Given the description of an element on the screen output the (x, y) to click on. 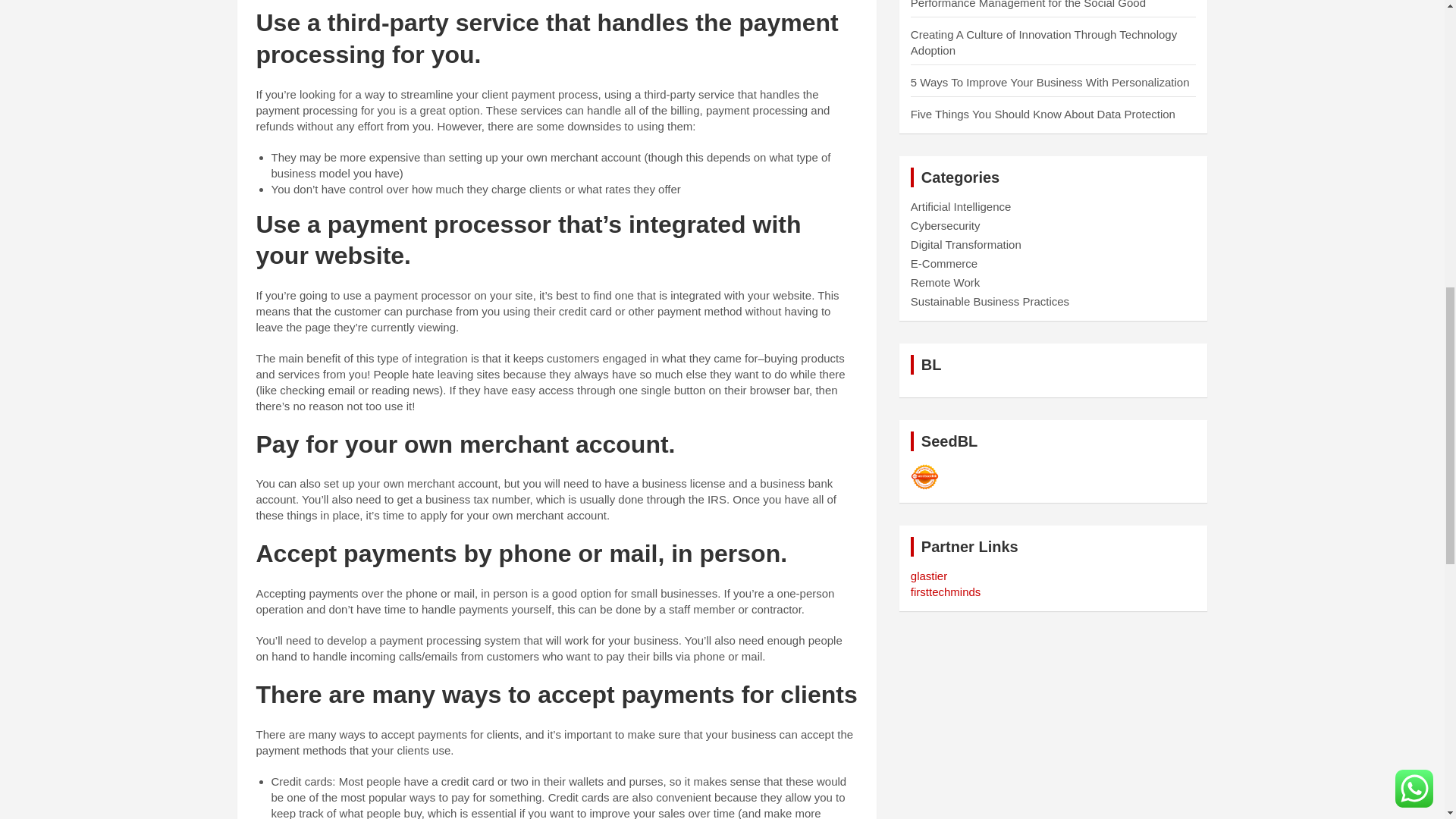
5 Ways To Improve Your Business With Personalization (1050, 82)
Five Things You Should Know About Data Protection (1042, 113)
Artificial Intelligence (961, 205)
Creating A Culture of Innovation Through Technology Adoption (1043, 41)
Cybersecurity (945, 225)
